Given the description of an element on the screen output the (x, y) to click on. 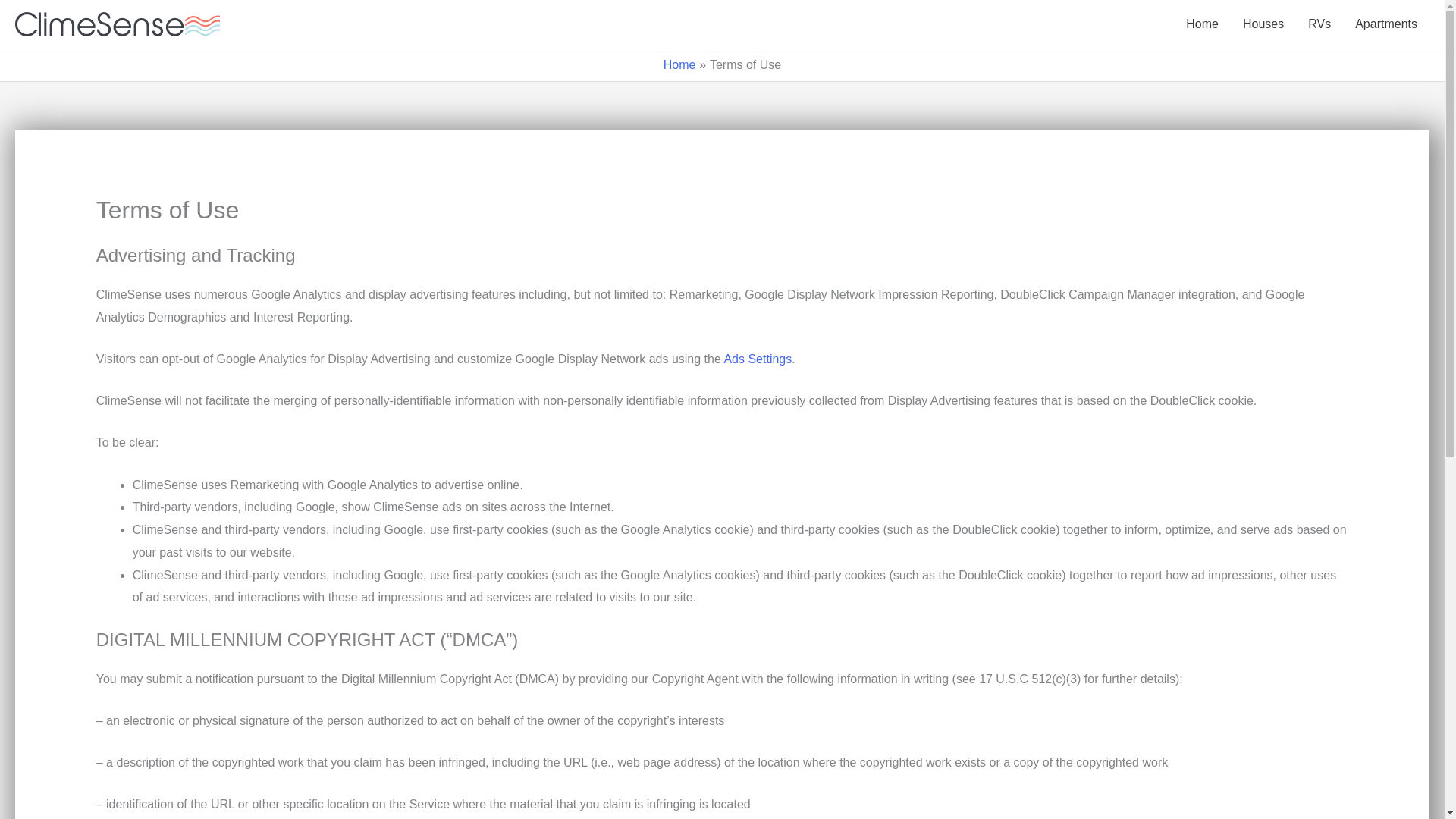
Home (1201, 24)
Home (679, 64)
RVs (1318, 24)
Apartments (1385, 24)
Houses (1262, 24)
Ads Settings (757, 358)
